Given the description of an element on the screen output the (x, y) to click on. 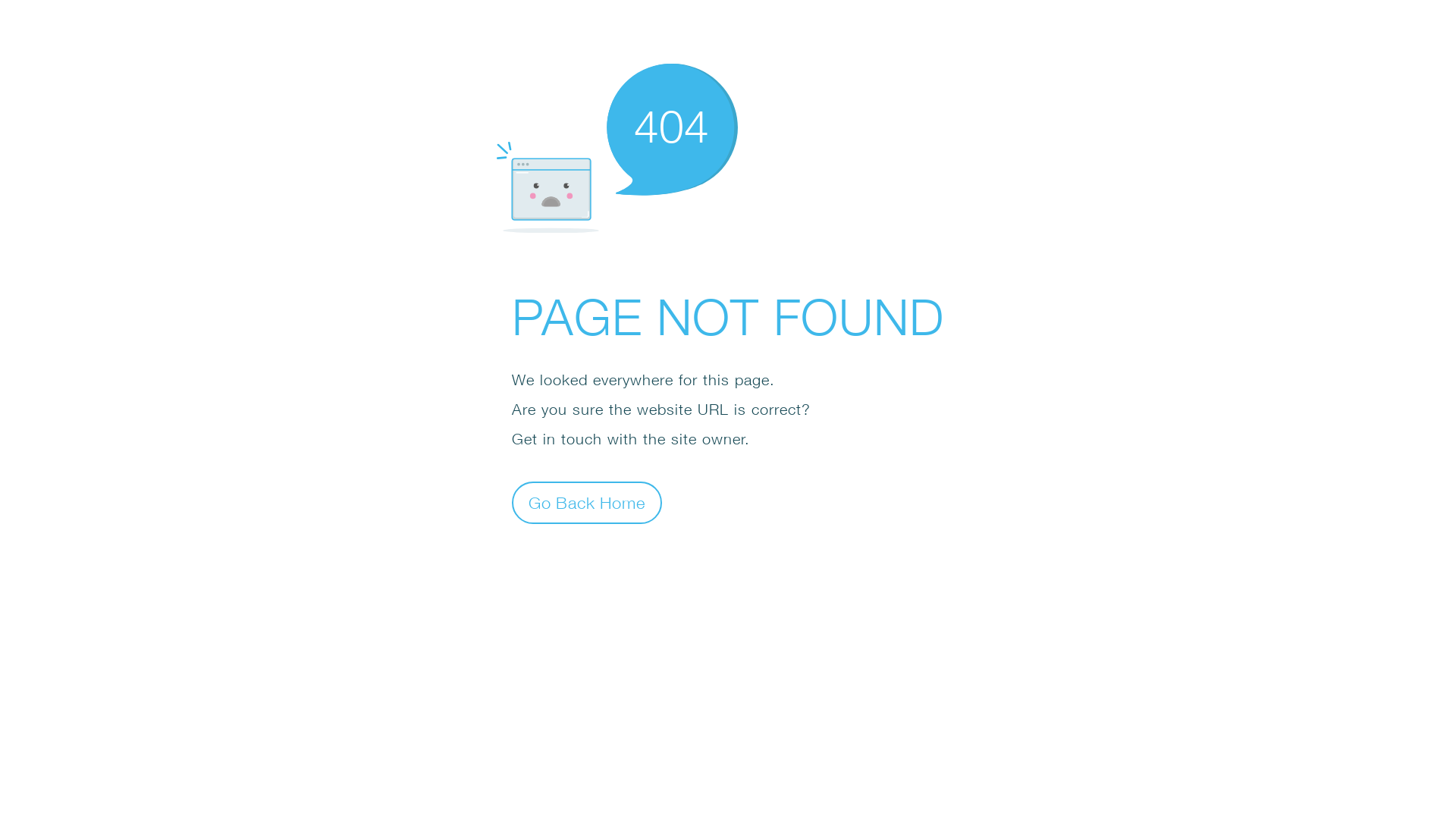
Go Back Home Element type: text (586, 502)
